Given the description of an element on the screen output the (x, y) to click on. 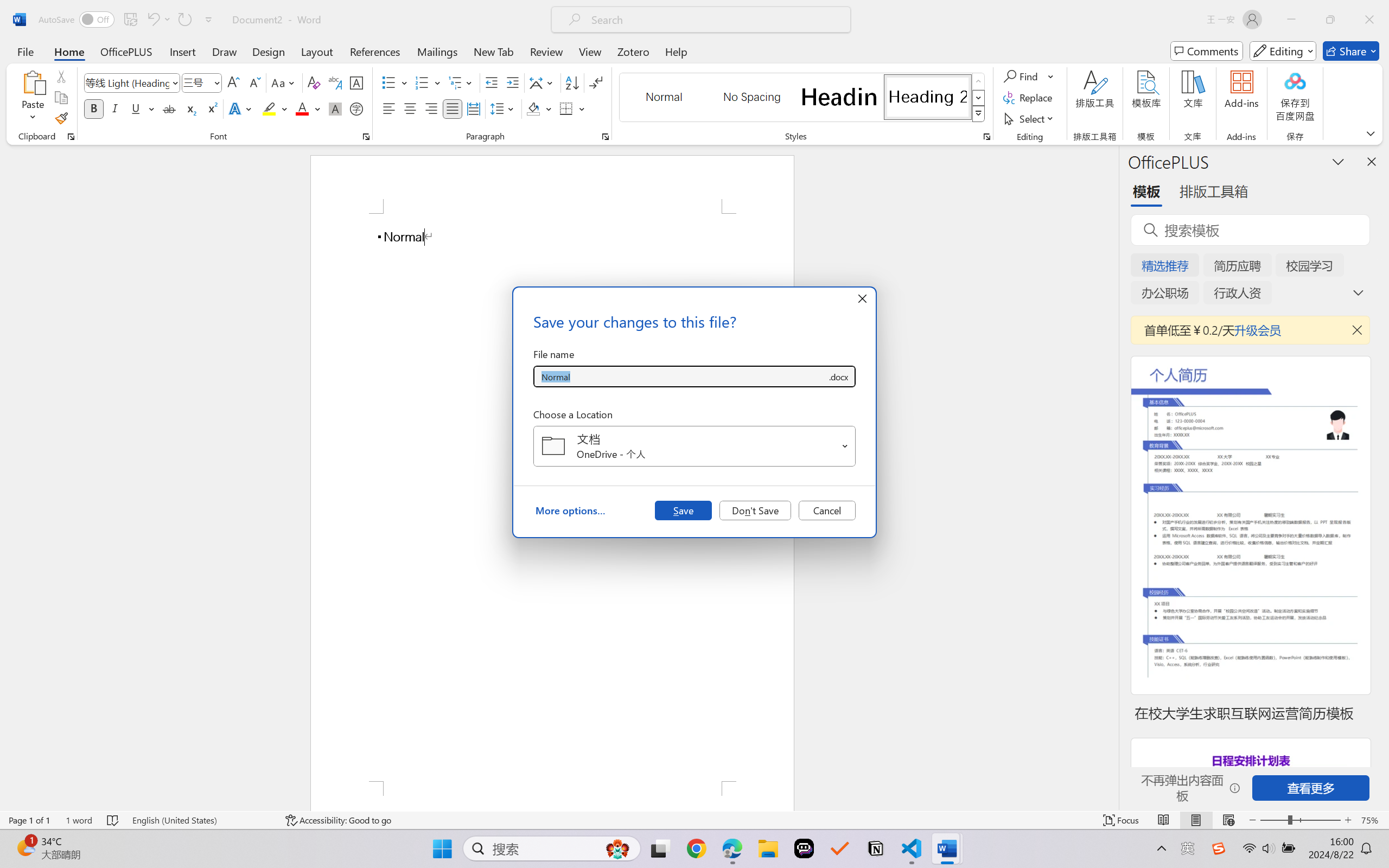
Heading 1 (839, 96)
Text Highlight Color (274, 108)
Bullets (388, 82)
Font Size (196, 82)
